Given the description of an element on the screen output the (x, y) to click on. 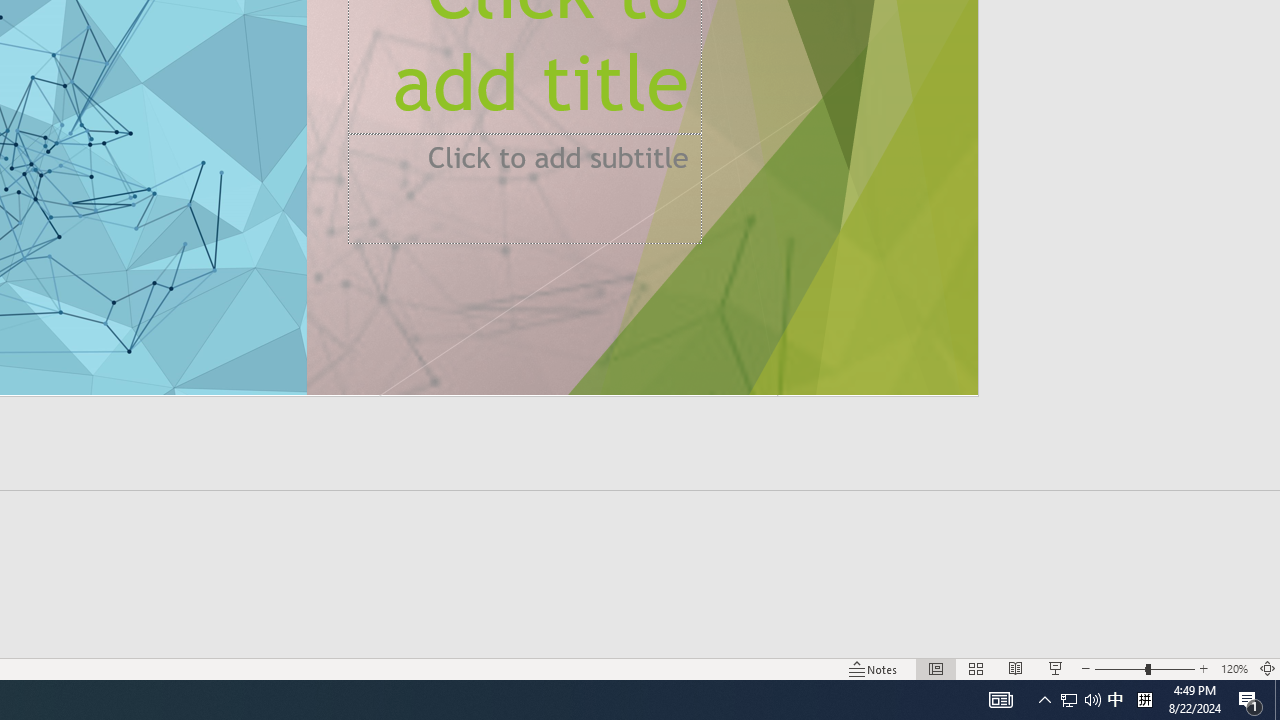
Zoom 120% (1234, 668)
